Given the description of an element on the screen output the (x, y) to click on. 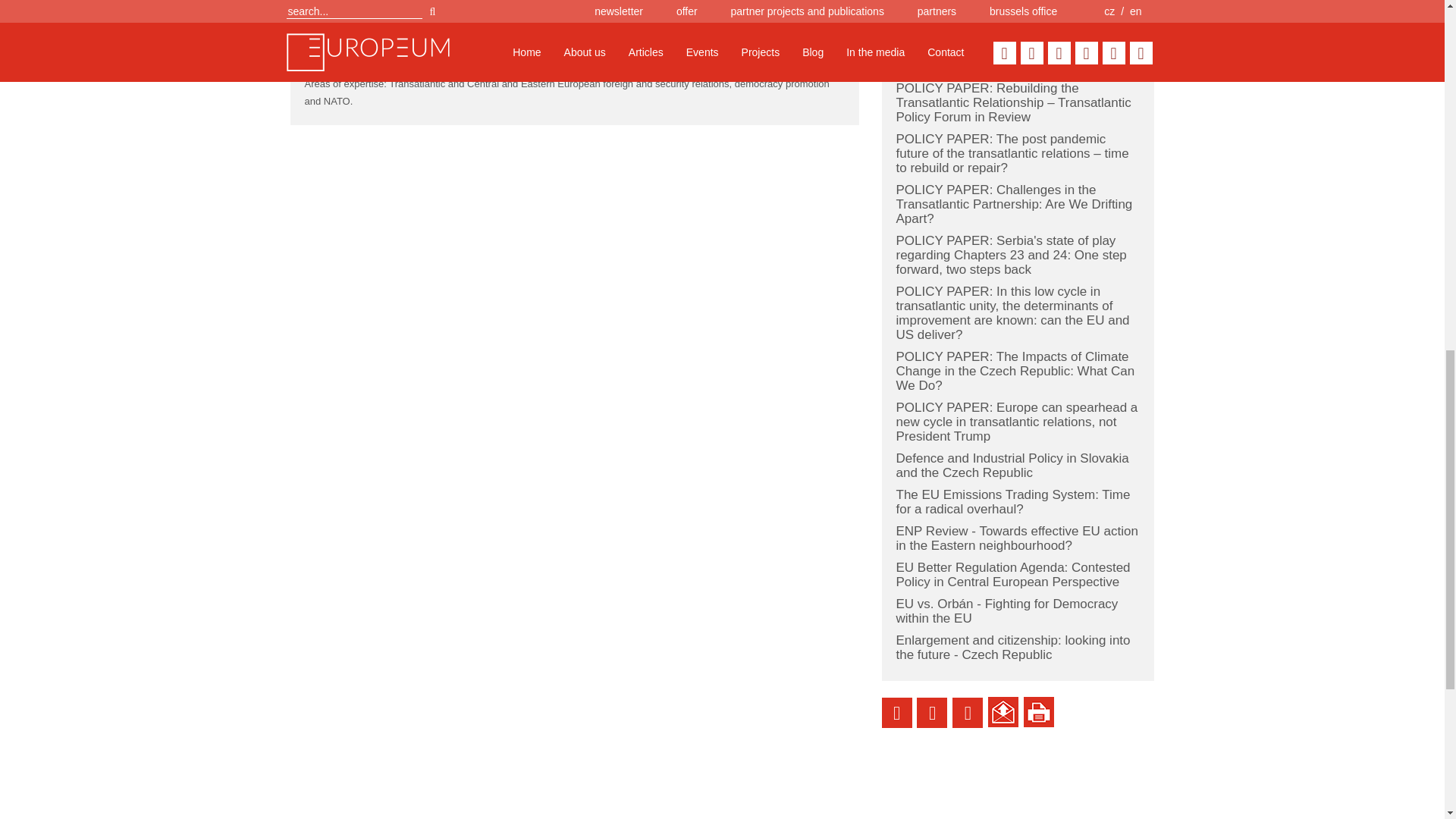
Danielle Piatkiewicz (397, 34)
